Given the description of an element on the screen output the (x, y) to click on. 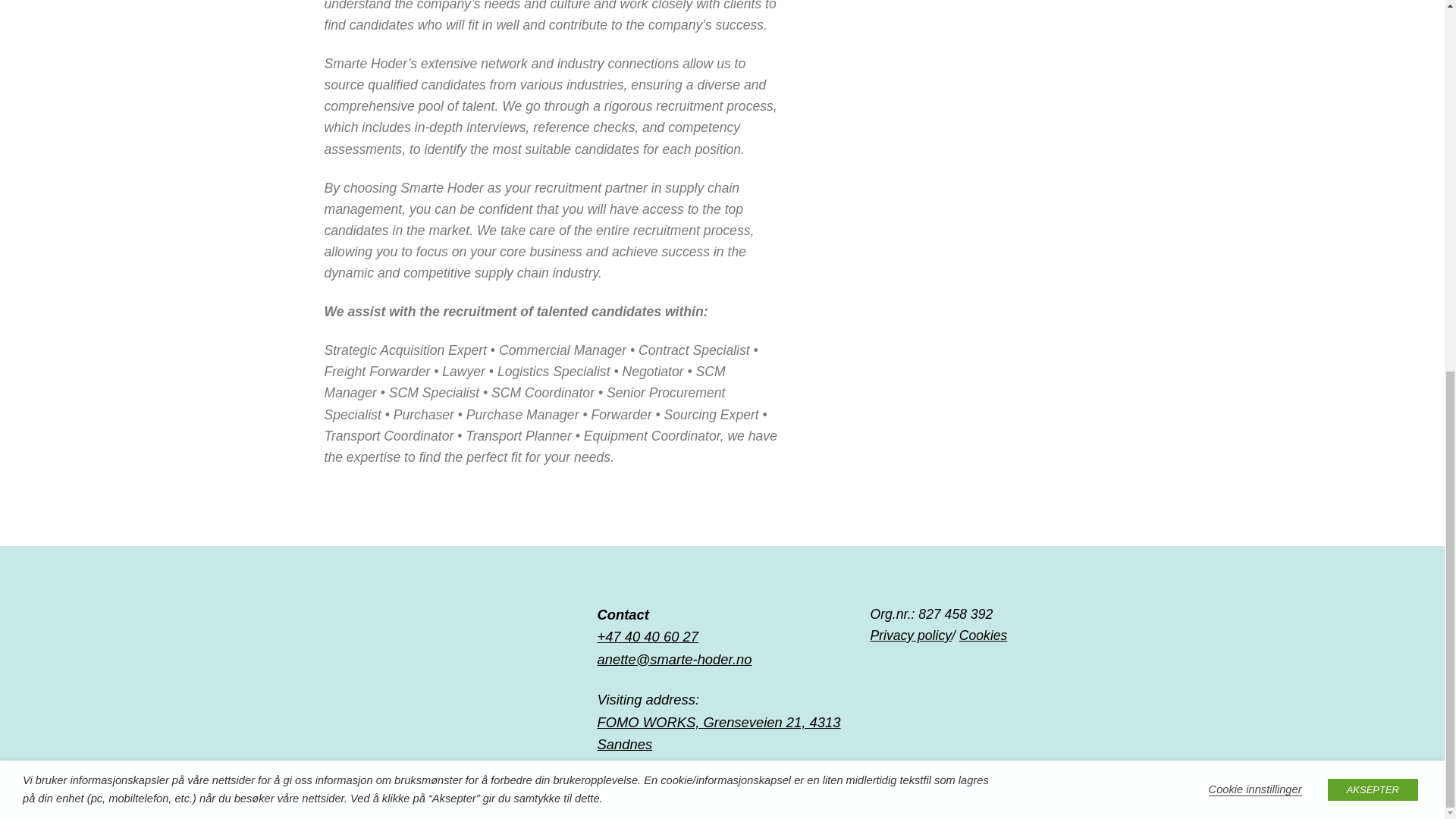
AKSEPTER (1372, 114)
Privacy policy (910, 635)
Cookies (983, 635)
FOMO WORKS, Grenseveien 21, 4313 Sandnes (718, 733)
Cookie innstillinger (1254, 113)
Privacy policy (910, 635)
